Given the description of an element on the screen output the (x, y) to click on. 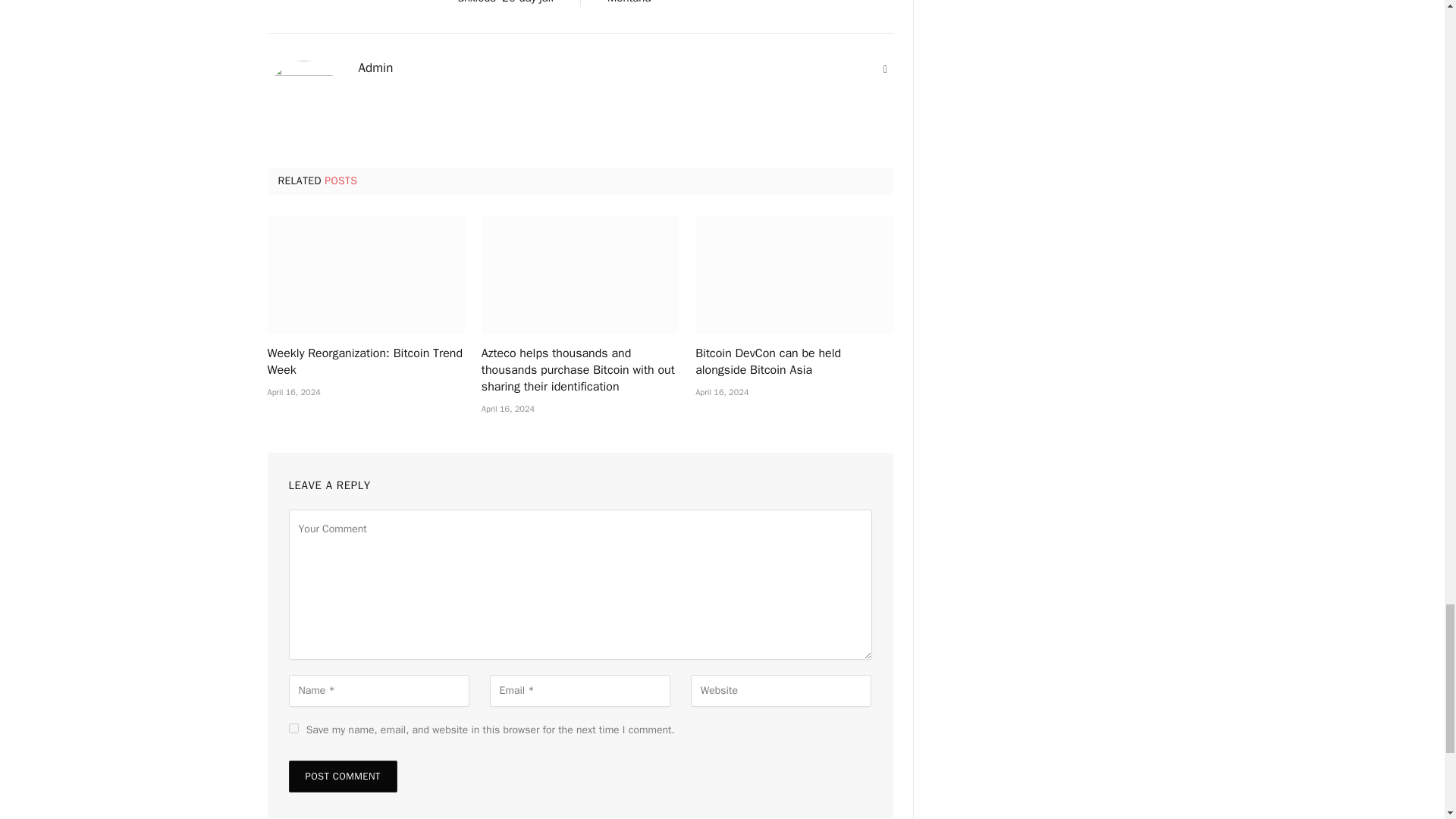
Post Comment (342, 776)
yes (293, 728)
Website (885, 69)
Bitcoin DevCon can be held alongside Bitcoin Asia (793, 274)
Admin (375, 68)
Weekly Reorganization: Bitcoin Trend Week (365, 362)
Weekly Reorganization: Bitcoin Trend Week (365, 274)
Posts by Admin (375, 68)
